Given the description of an element on the screen output the (x, y) to click on. 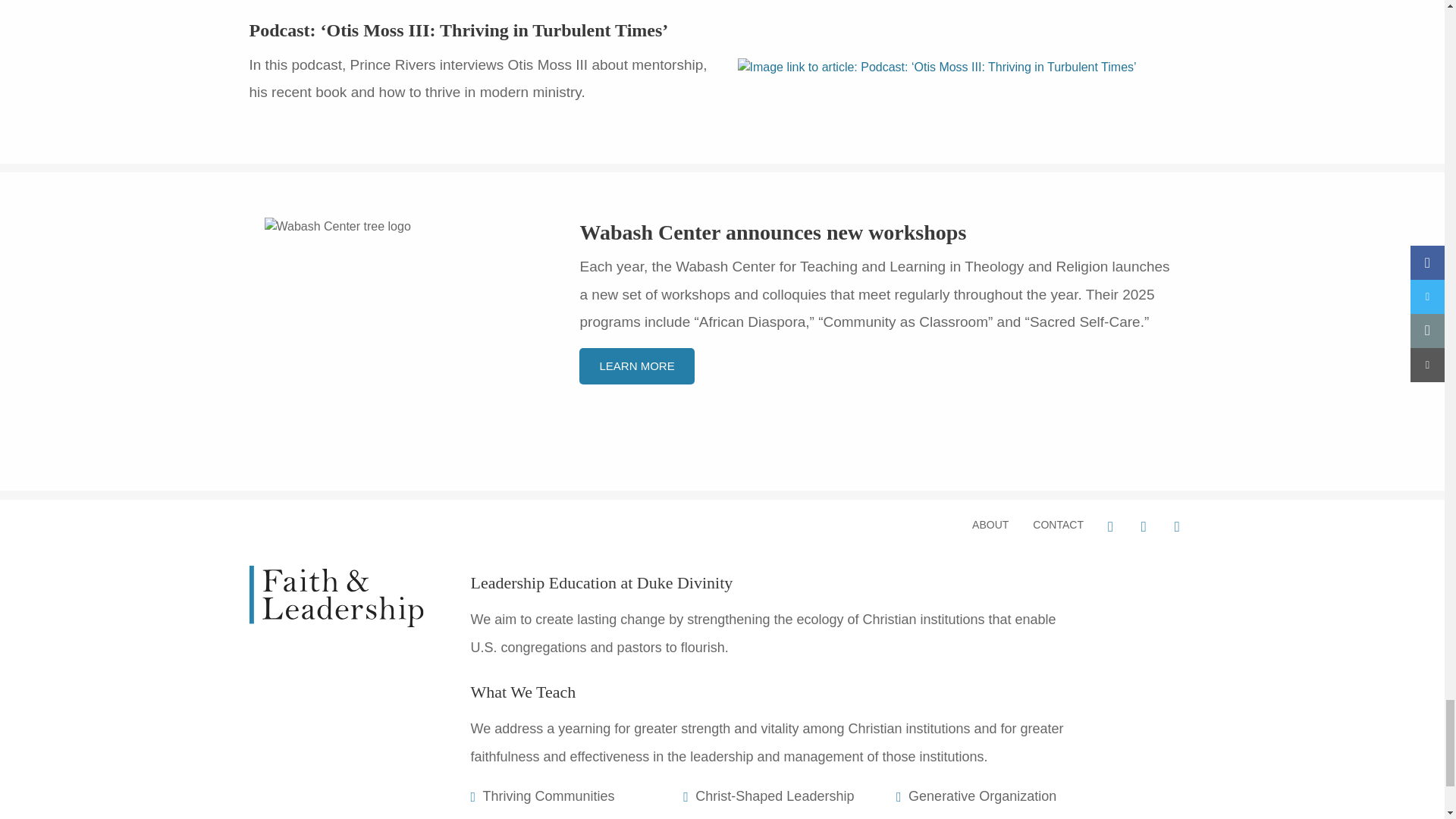
CONTACT (1058, 524)
Wabash Center announces new workshops (772, 232)
 TWITTER (1145, 526)
ABOUT (989, 524)
Leadership Education at Duke Divinity (601, 582)
What We Teach (522, 691)
 FACEBOOK (1112, 526)
 RSS FEED (1178, 526)
LEARN MORE (636, 366)
